Given the description of an element on the screen output the (x, y) to click on. 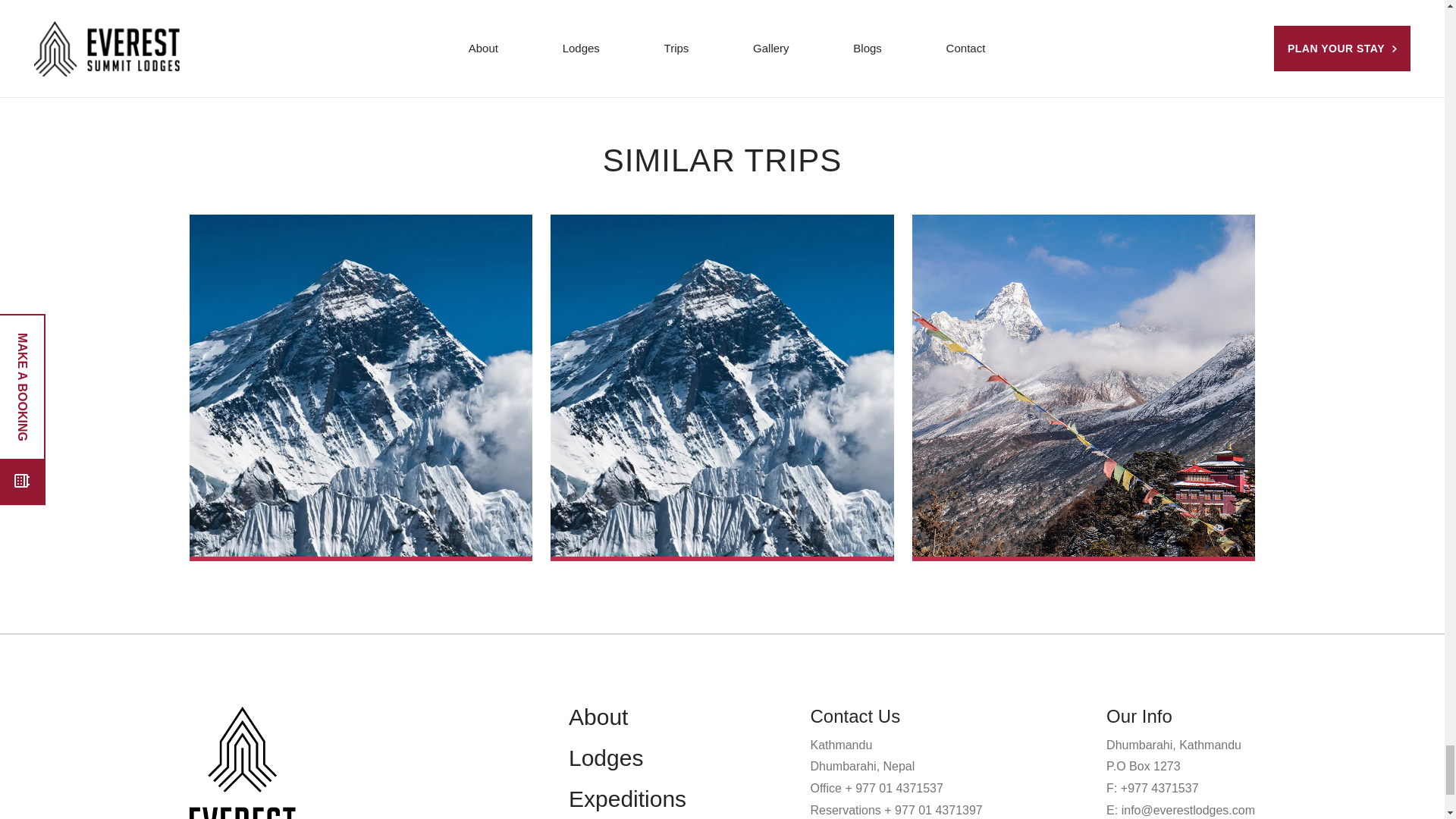
About (598, 716)
Lodges (606, 757)
